Given the description of an element on the screen output the (x, y) to click on. 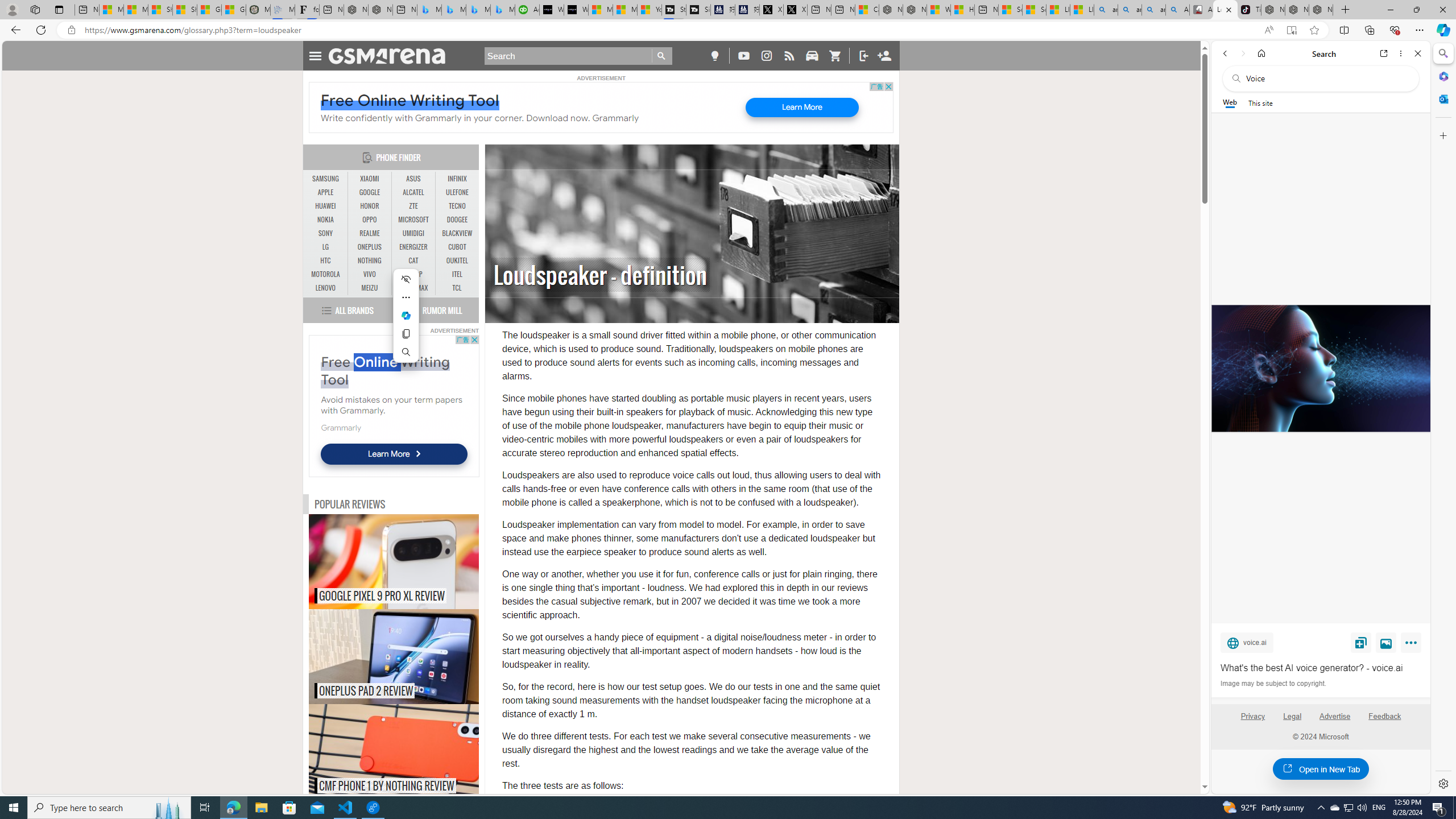
HONOR (369, 206)
ZTE (413, 205)
amazon - Search Images (1153, 9)
HONOR (369, 205)
NOTHING (369, 260)
Loudspeaker - definition - GSMArena.com (1224, 9)
GOOGLE (369, 192)
HUAWEI (325, 205)
OnePlus Pad 2 review ONEPLUS PAD 2 REVIEW (393, 656)
ITEL (457, 273)
